Given the description of an element on the screen output the (x, y) to click on. 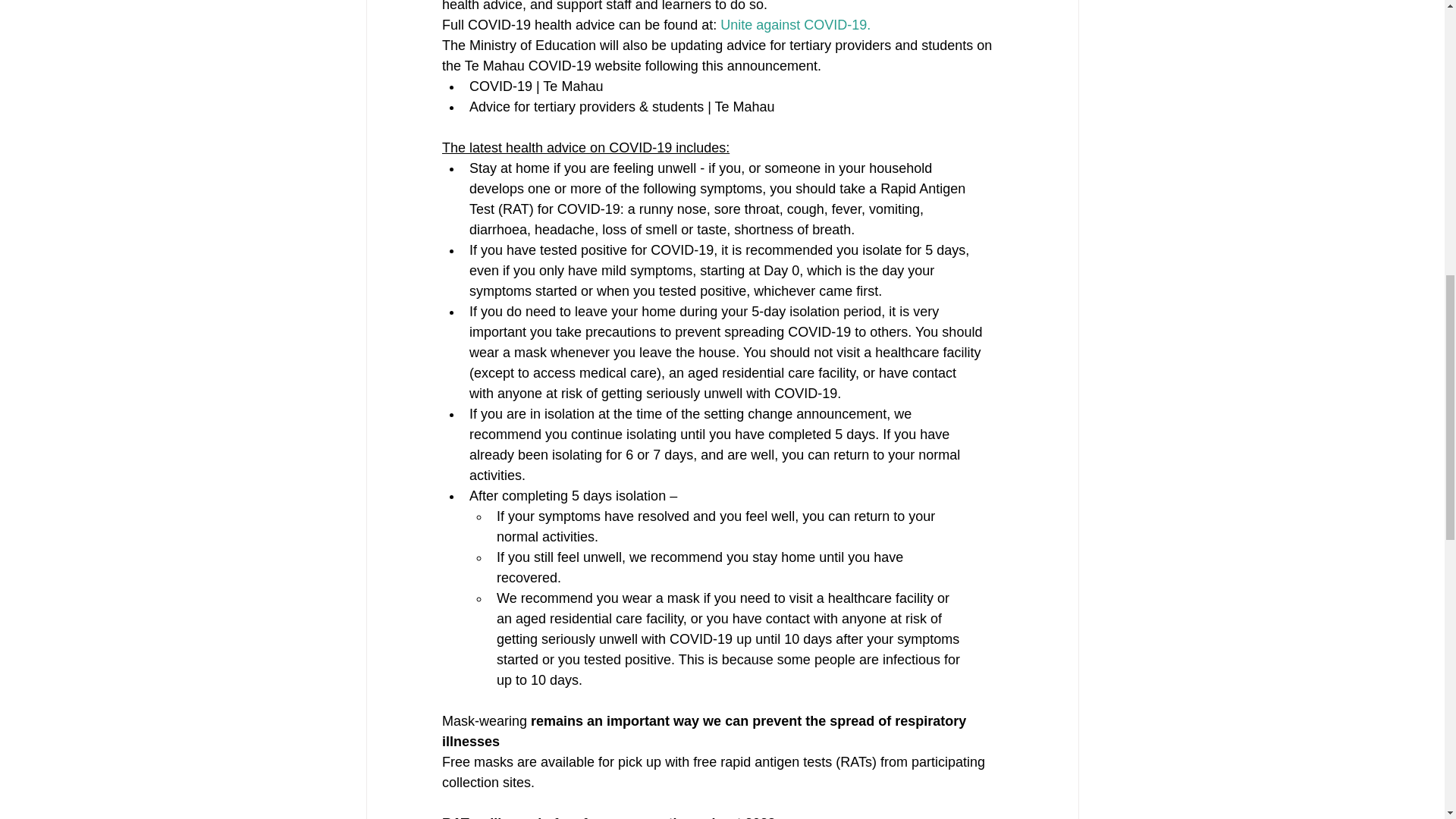
Unite against COVID-19. (795, 24)
